Given the description of an element on the screen output the (x, y) to click on. 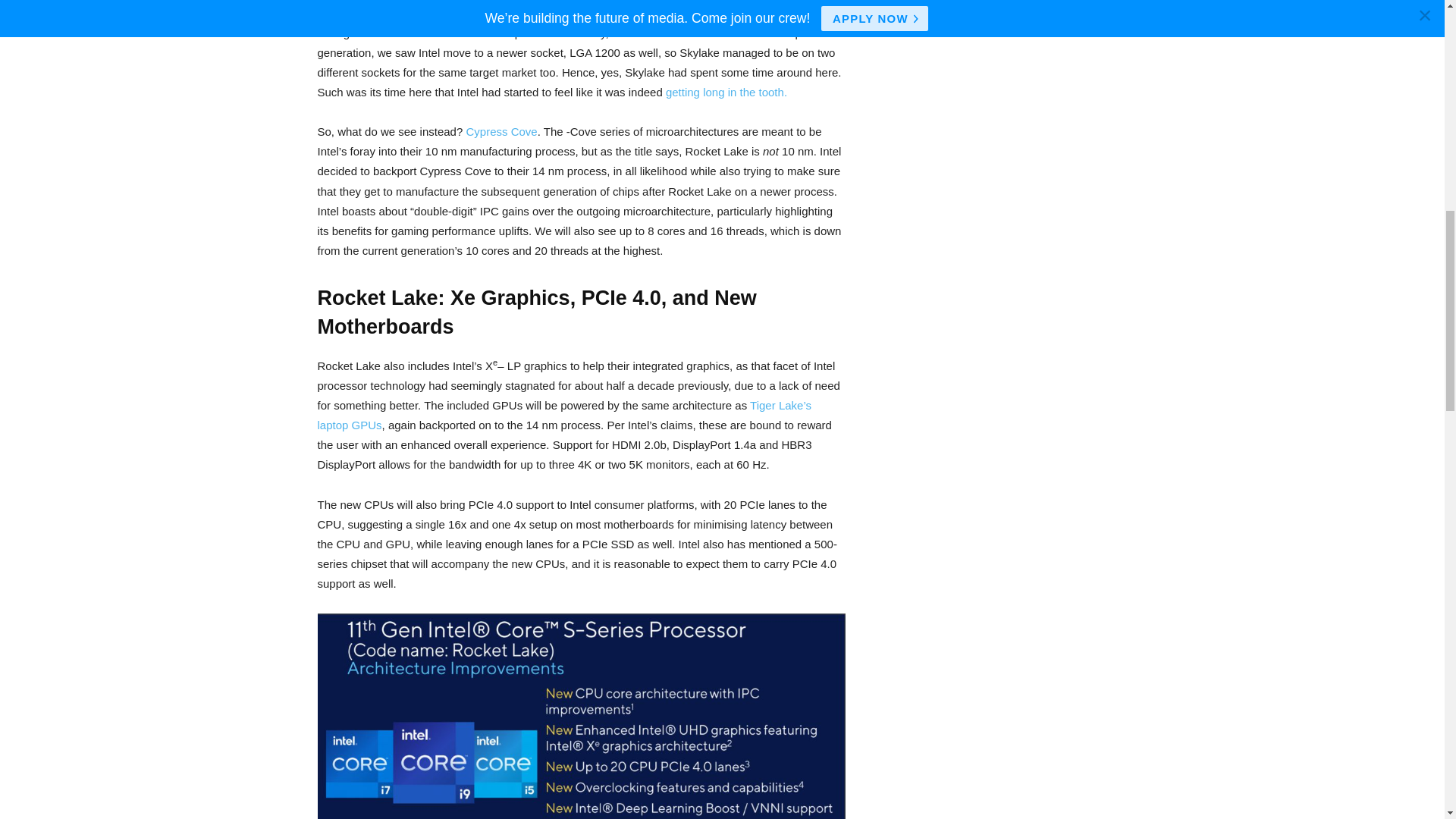
Cypress Cove (501, 131)
getting long in the tooth. (726, 91)
